Given the description of an element on the screen output the (x, y) to click on. 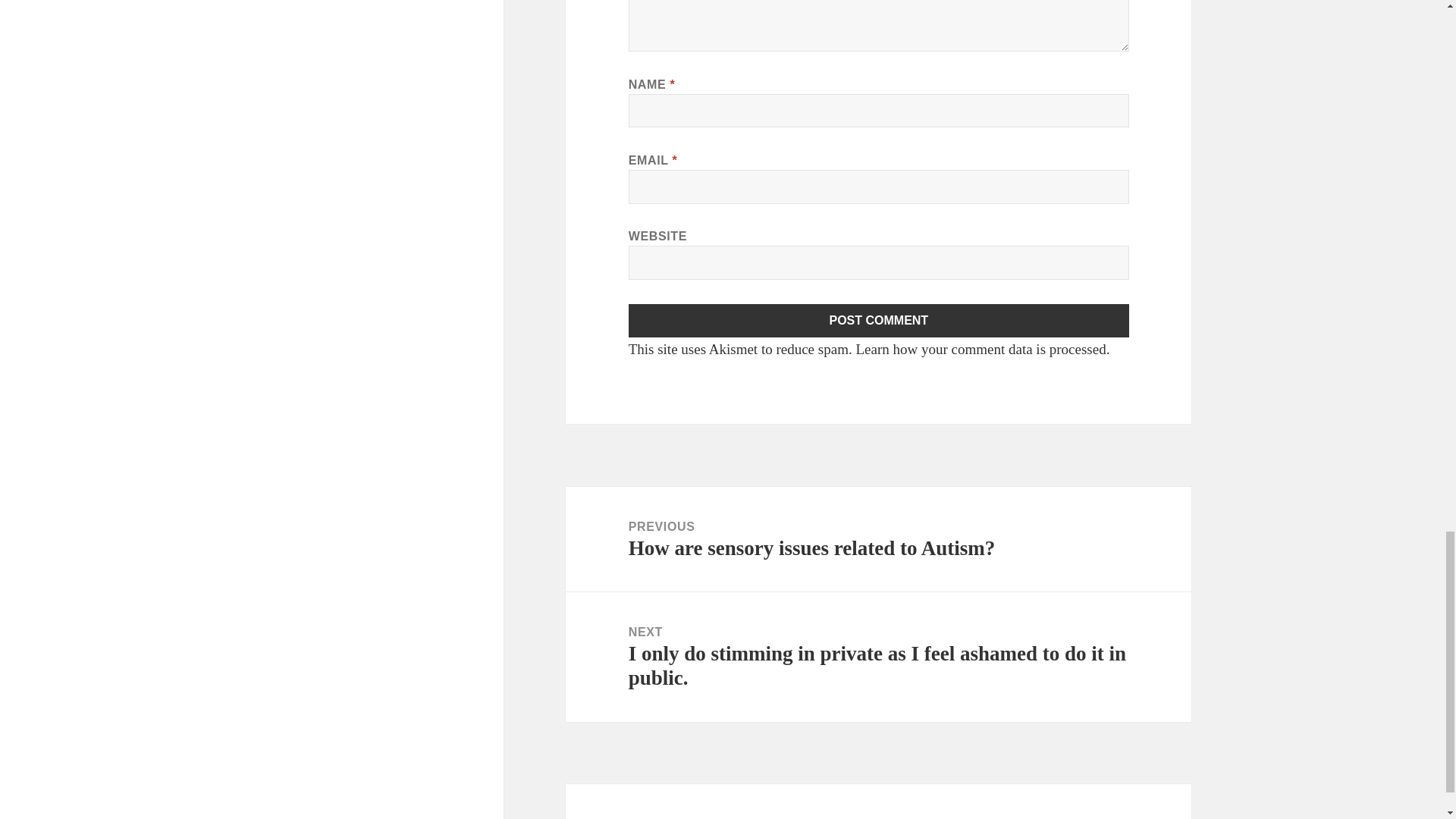
Post Comment (878, 319)
Privacy Policy (664, 818)
Learn how your comment data is processed (980, 349)
Post Comment (878, 319)
